Given the description of an element on the screen output the (x, y) to click on. 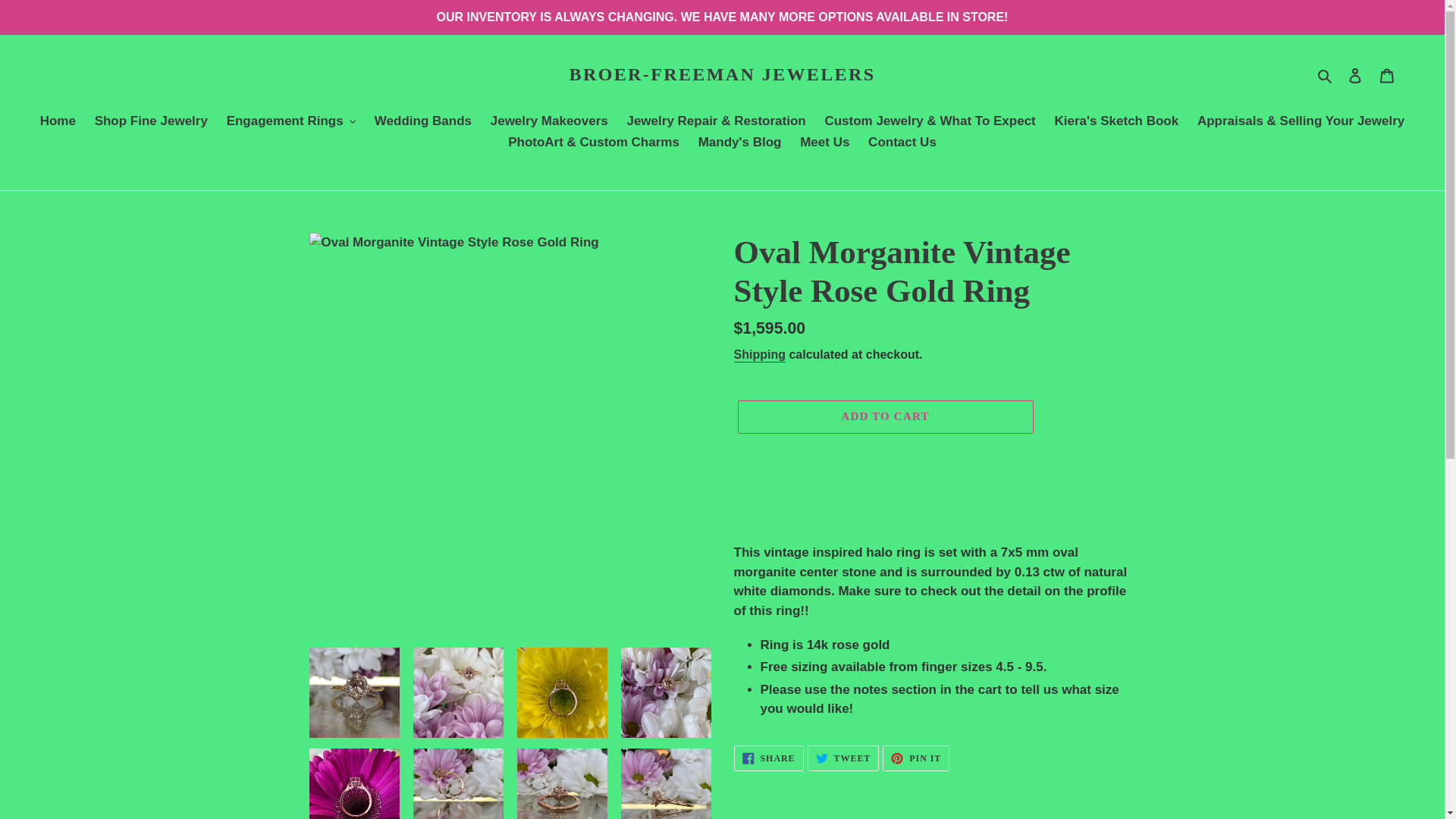
Home (57, 121)
Engagement Rings (290, 121)
Cart (1387, 74)
Log in (1355, 74)
Shop Fine Jewelry (151, 121)
BROER-FREEMAN JEWELERS (722, 74)
Wedding Bands (422, 121)
Kiera's Sketch Book (1116, 121)
Search (1326, 74)
Mandy's Blog (739, 143)
